Given the description of an element on the screen output the (x, y) to click on. 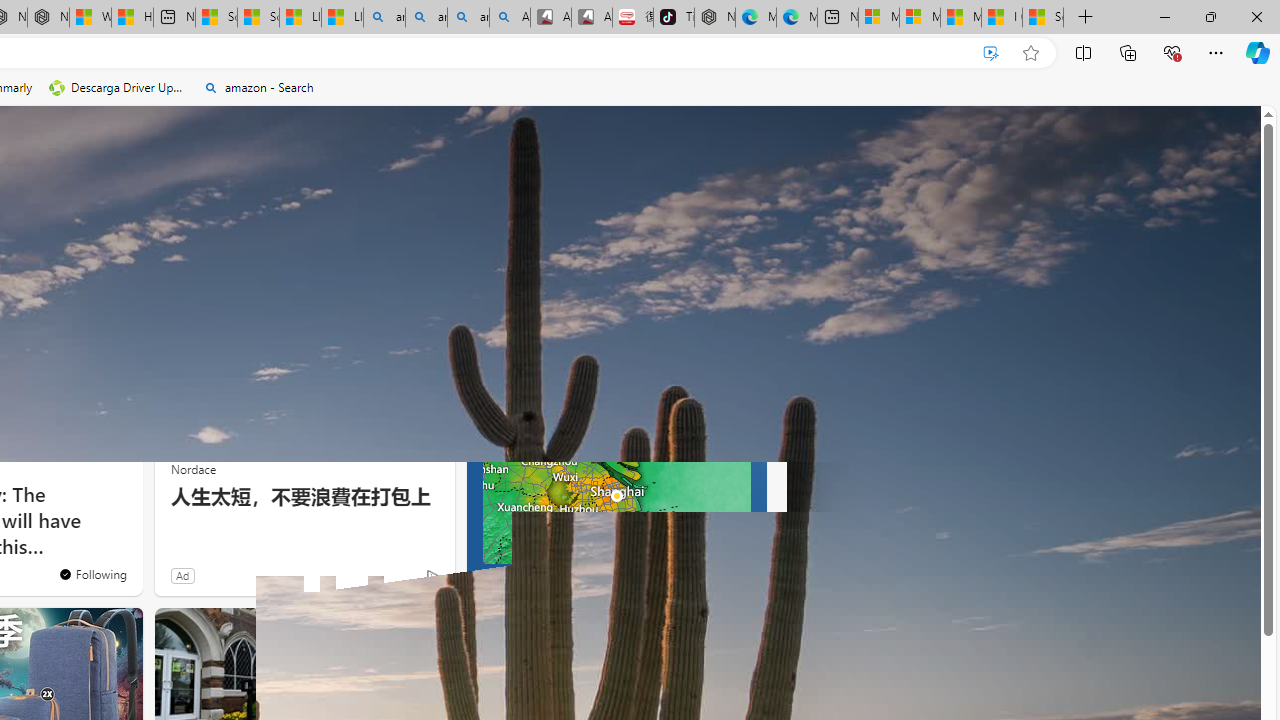
aqi-icon AQI 93 Moderate air quality (683, 367)
See more (118, 315)
Health (34, 265)
Collections (1128, 52)
Ad Choice (432, 575)
Descarga Driver Updater (118, 88)
Close (1256, 16)
Traffic (155, 267)
amazon - Search Images (468, 17)
Nordace - Summer Adventures 2024 (48, 17)
Personalize your feed" (571, 266)
Microsoft rewards (1137, 138)
Autos (216, 267)
